Given the description of an element on the screen output the (x, y) to click on. 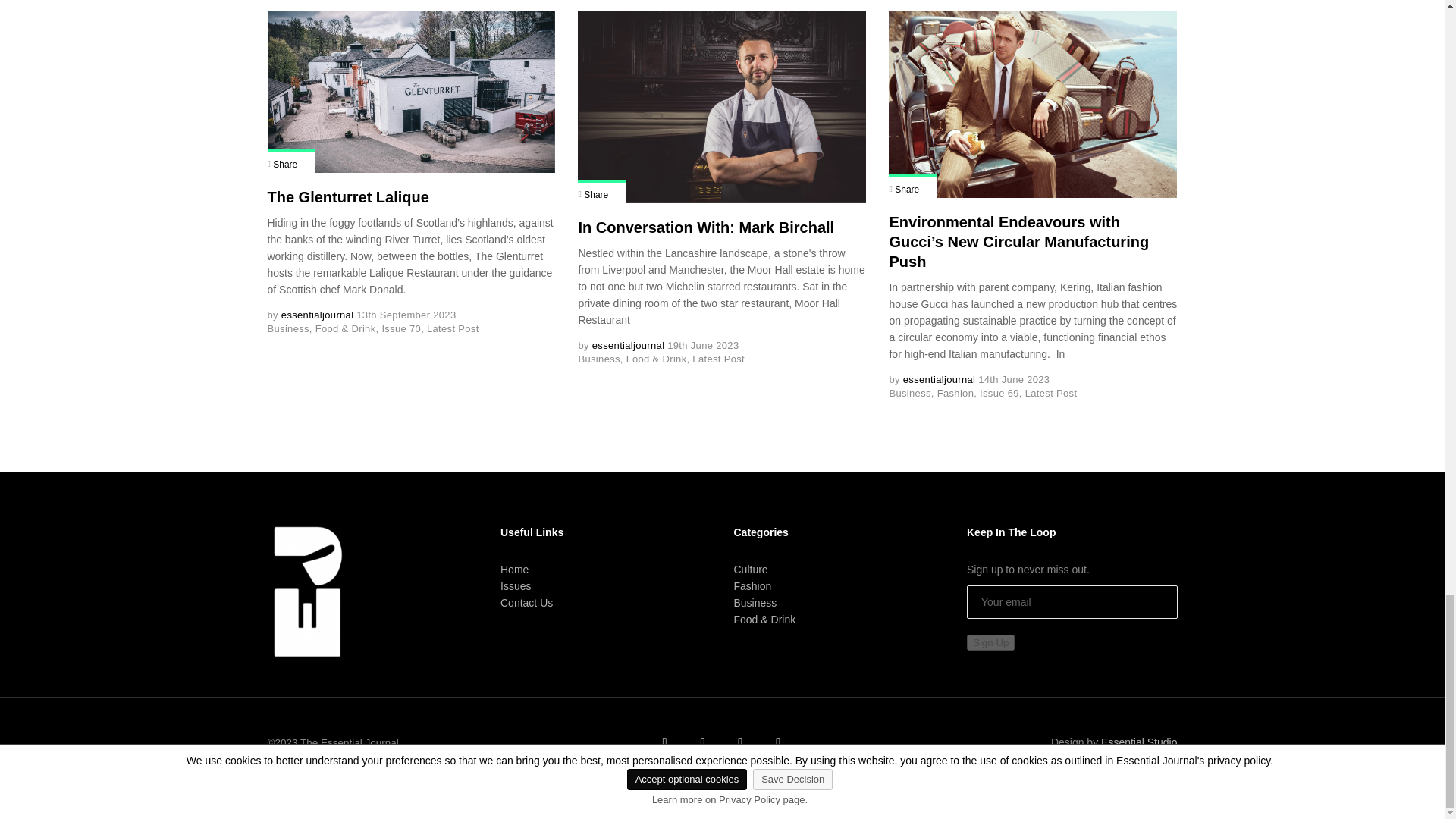
The Glenturret Lalique (347, 197)
In Conversation With: Mark Birchall (706, 227)
The Glenturret Lalique (410, 90)
In Conversation With: Mark Birchall (722, 106)
